Given the description of an element on the screen output the (x, y) to click on. 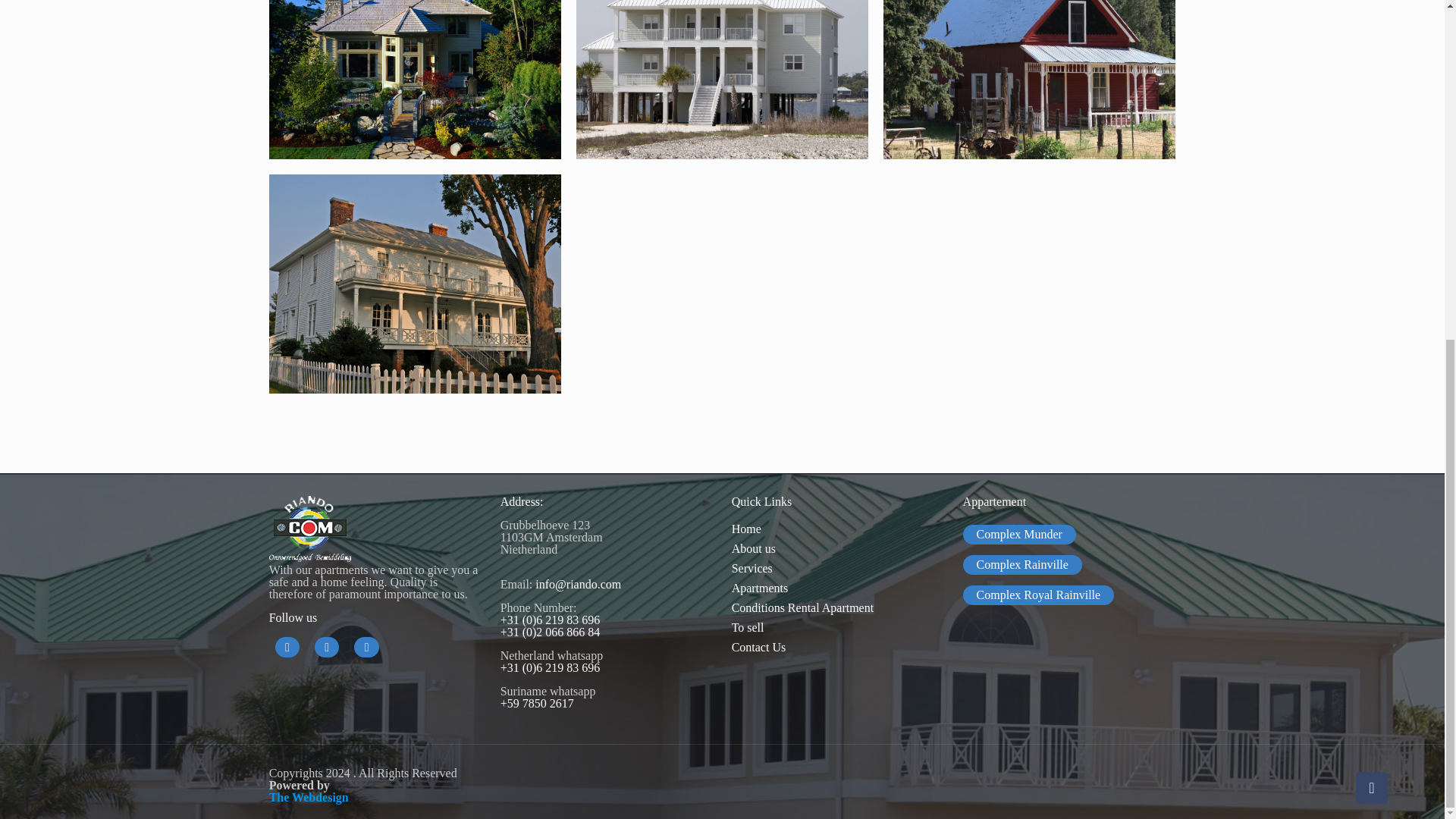
Apartments (838, 588)
Facebook (287, 647)
Twitter (326, 647)
Home (838, 528)
About us (838, 548)
Services (838, 568)
Conditions Rental Apartment (838, 608)
